Given the description of an element on the screen output the (x, y) to click on. 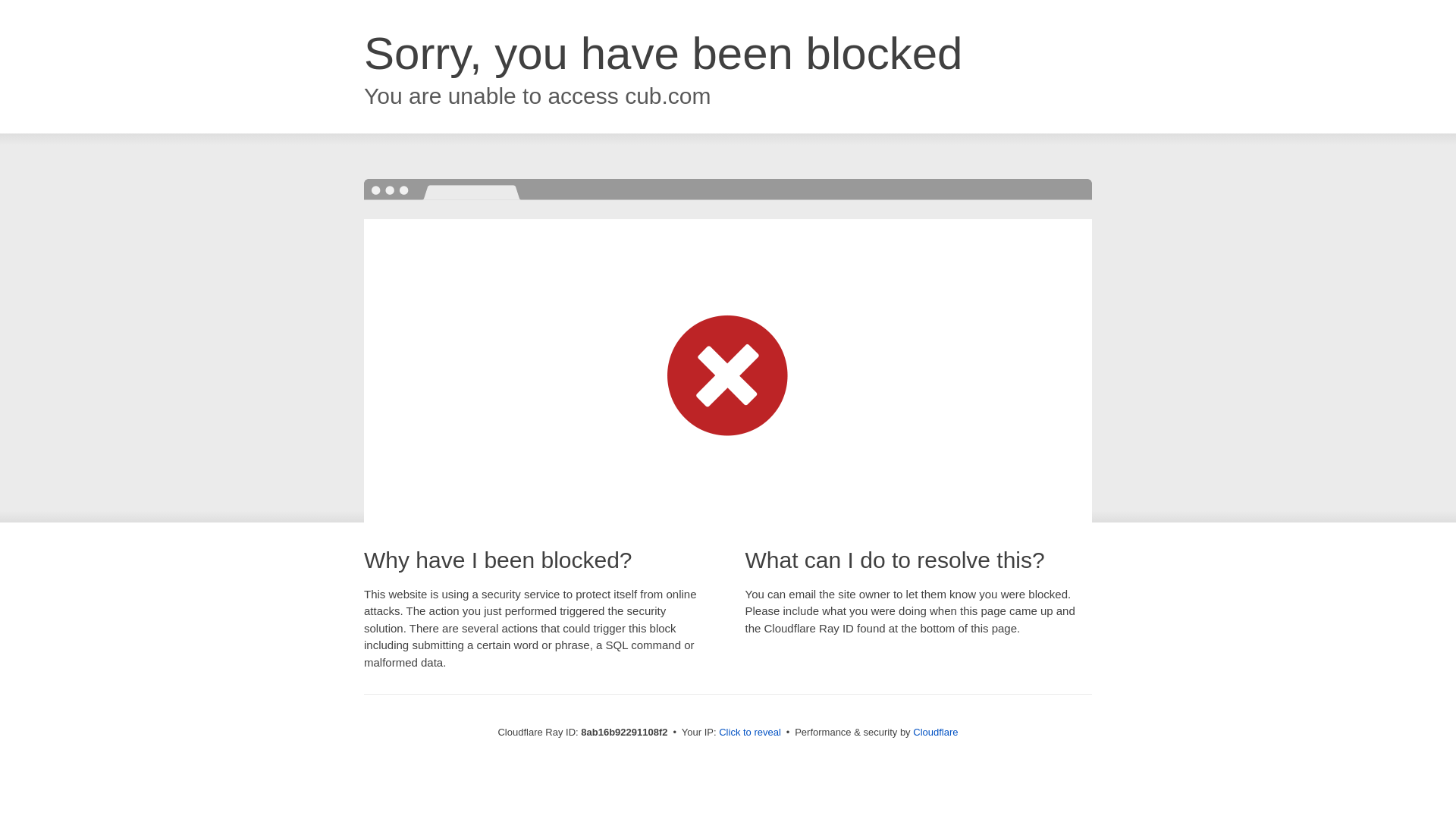
Click to reveal (749, 732)
Cloudflare (935, 731)
